Given the description of an element on the screen output the (x, y) to click on. 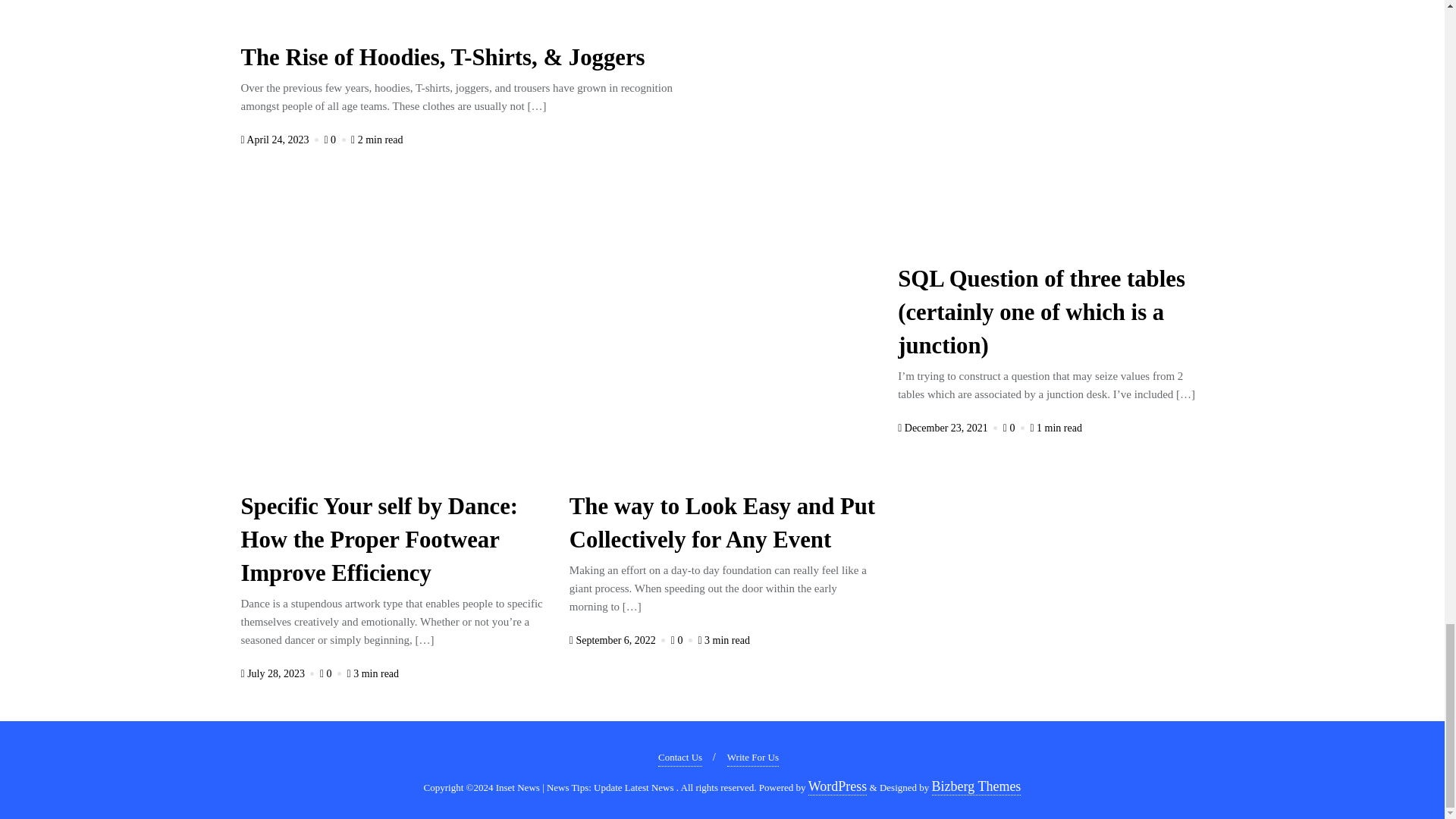
0 (683, 640)
April 24, 2023 (281, 139)
2 min read (376, 139)
3 min read (372, 673)
0 (335, 139)
3 min read (723, 640)
July 28, 2023 (279, 673)
The way to Look Easy and Put Collectively for Any Event (722, 525)
September 6, 2022 (618, 640)
0 (331, 673)
